Given the description of an element on the screen output the (x, y) to click on. 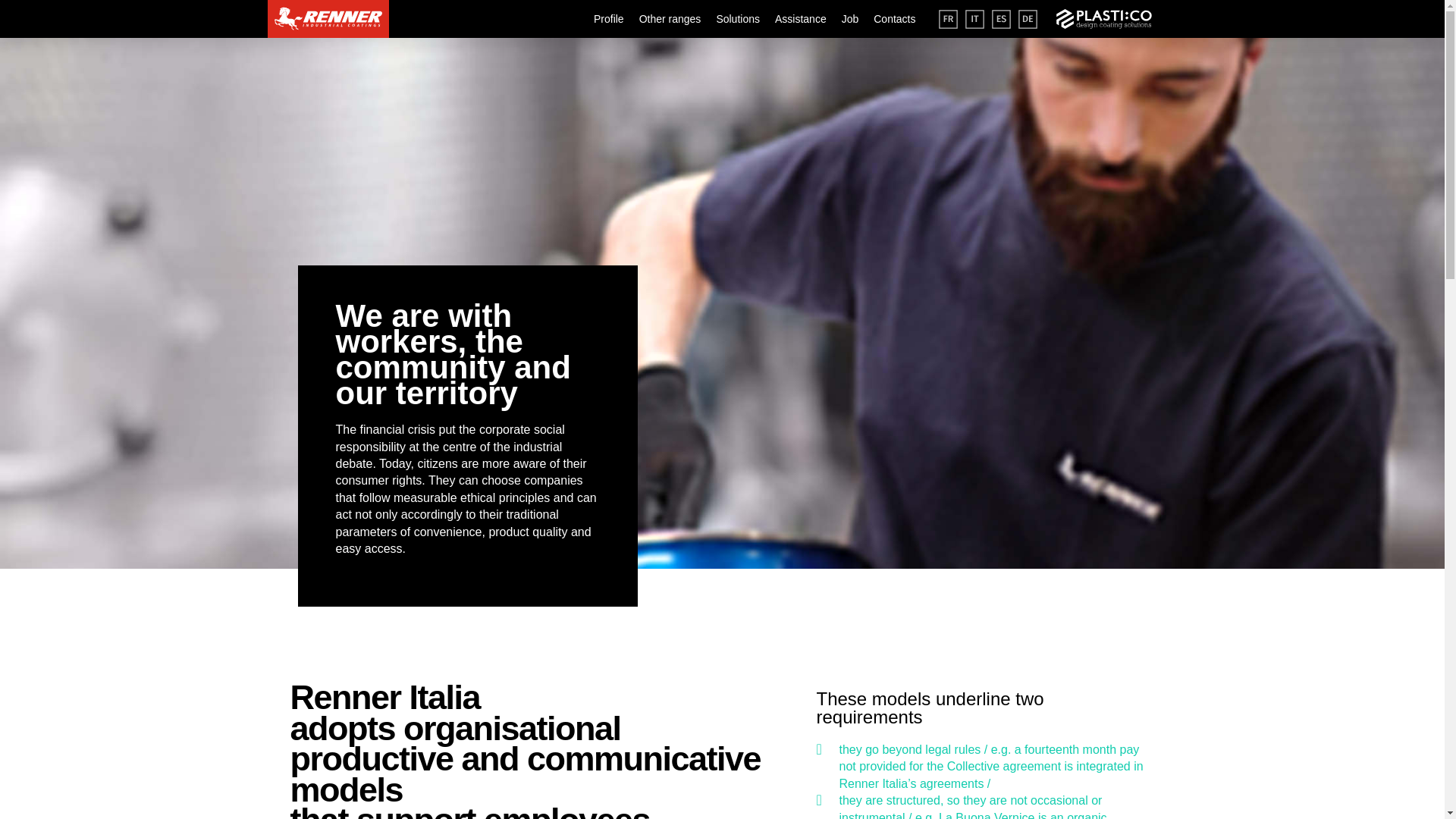
Assistance (800, 18)
Other ranges (670, 18)
Contacts (894, 18)
Profile (609, 18)
Solutions (738, 18)
Job (850, 18)
